Given the description of an element on the screen output the (x, y) to click on. 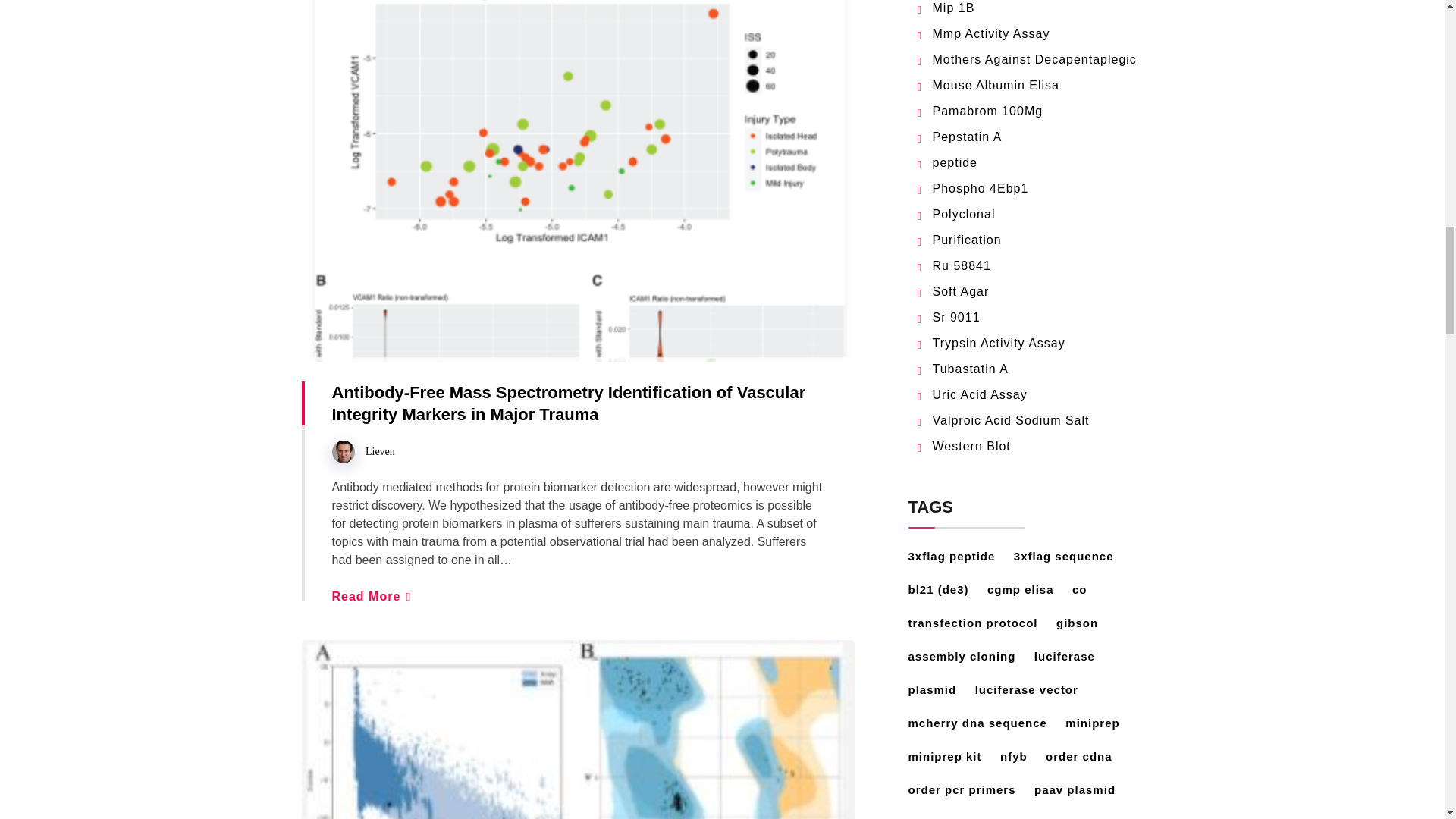
Lieven (379, 451)
Read More (370, 595)
